Given the description of an element on the screen output the (x, y) to click on. 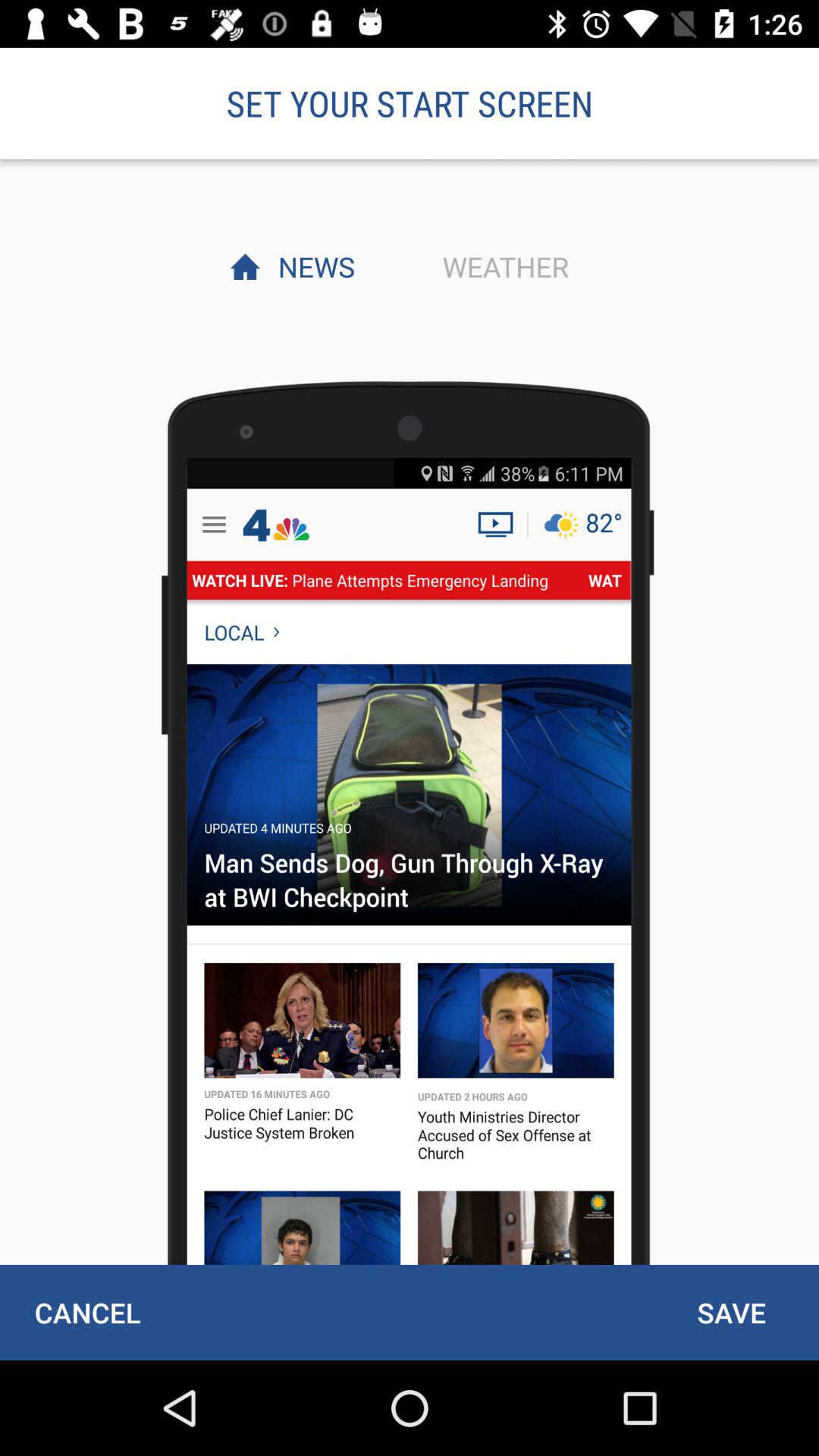
open item next to the cancel item (731, 1312)
